Given the description of an element on the screen output the (x, y) to click on. 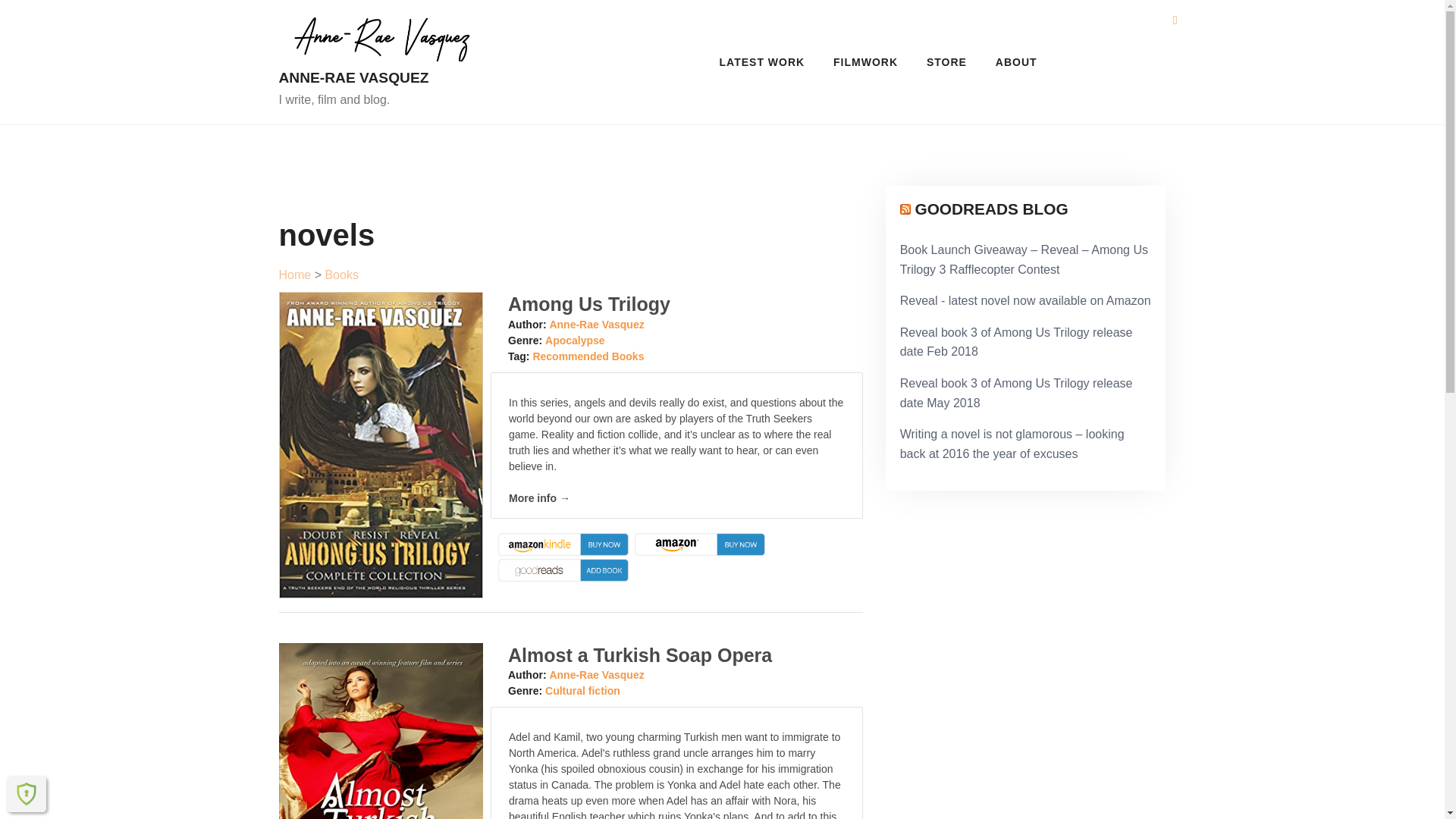
LATEST WORK (762, 62)
Almost a Turkish Soap Opera (639, 654)
Anne-Rae Vasquez (595, 674)
Home (295, 274)
FILMWORK (866, 62)
Cultural fiction (582, 690)
GOODREADS BLOG (990, 208)
Reveal - latest novel now available on Amazon (1025, 300)
Reveal book 3 of Among Us Trilogy release date Feb 2018 (1015, 341)
Anne-Rae Vasquez (595, 324)
Among Us Trilogy (588, 303)
STORE (946, 62)
Recommended Books (587, 356)
ANNE-RAE VASQUEZ (381, 78)
Reveal book 3 of Among Us Trilogy release date May 2018 (1015, 392)
